Given the description of an element on the screen output the (x, y) to click on. 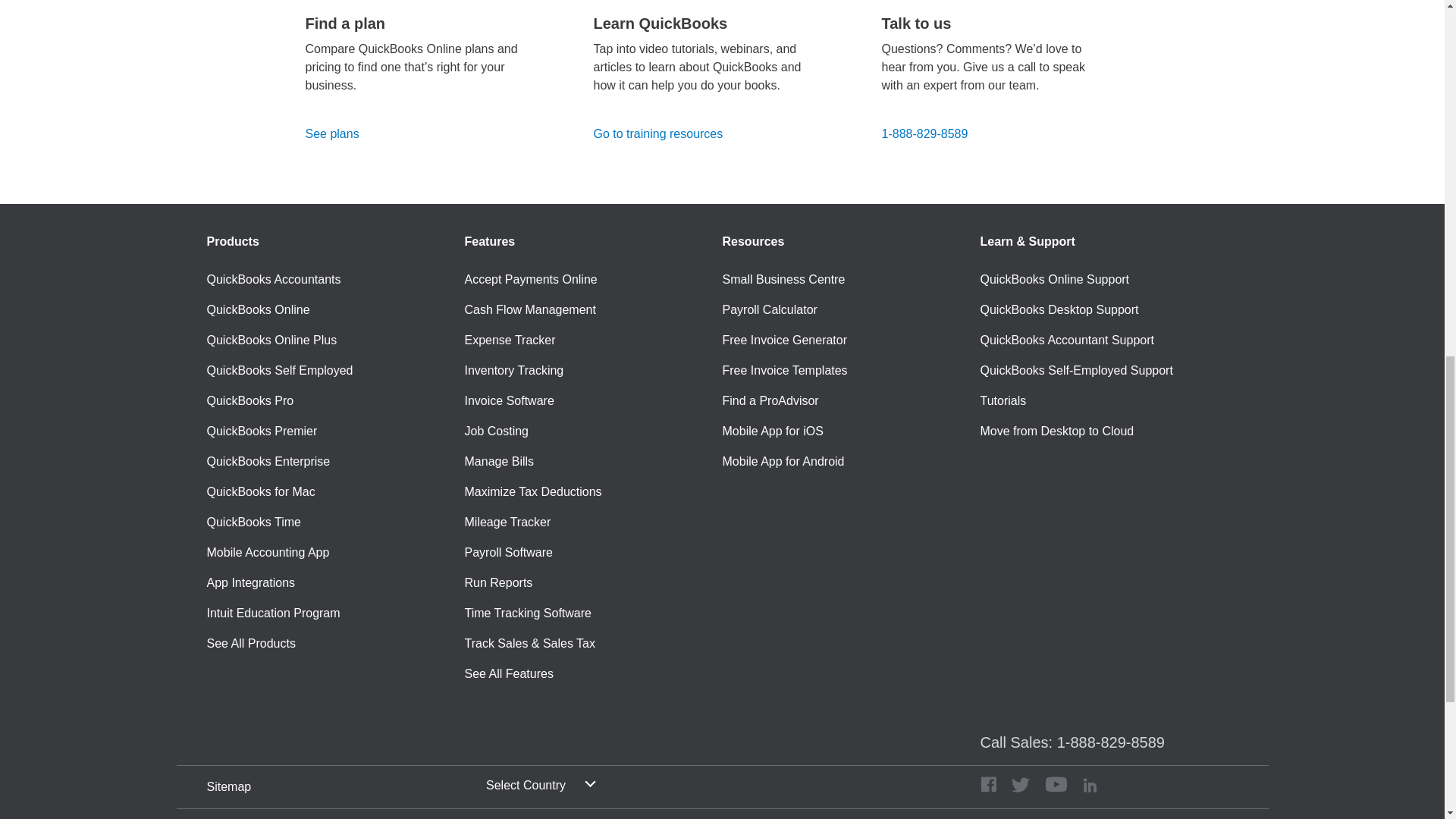
QuickBooks Pro (250, 401)
See All Products (250, 643)
Accept Payments Online (530, 280)
Expense Tracker (509, 340)
Mobile Accounting App (267, 552)
App Integrations (250, 583)
QuickBooks Accountants (273, 280)
QuickBooks Online (257, 310)
Intuit Education Program (272, 613)
TSheets Time Tracking (252, 522)
QuickBooks Premier (261, 431)
Cash Flow Management (529, 310)
QuickBooks Enterprise (268, 461)
QuickBooks Self Employed (279, 370)
QuickBooks Online Plus (271, 340)
